Given the description of an element on the screen output the (x, y) to click on. 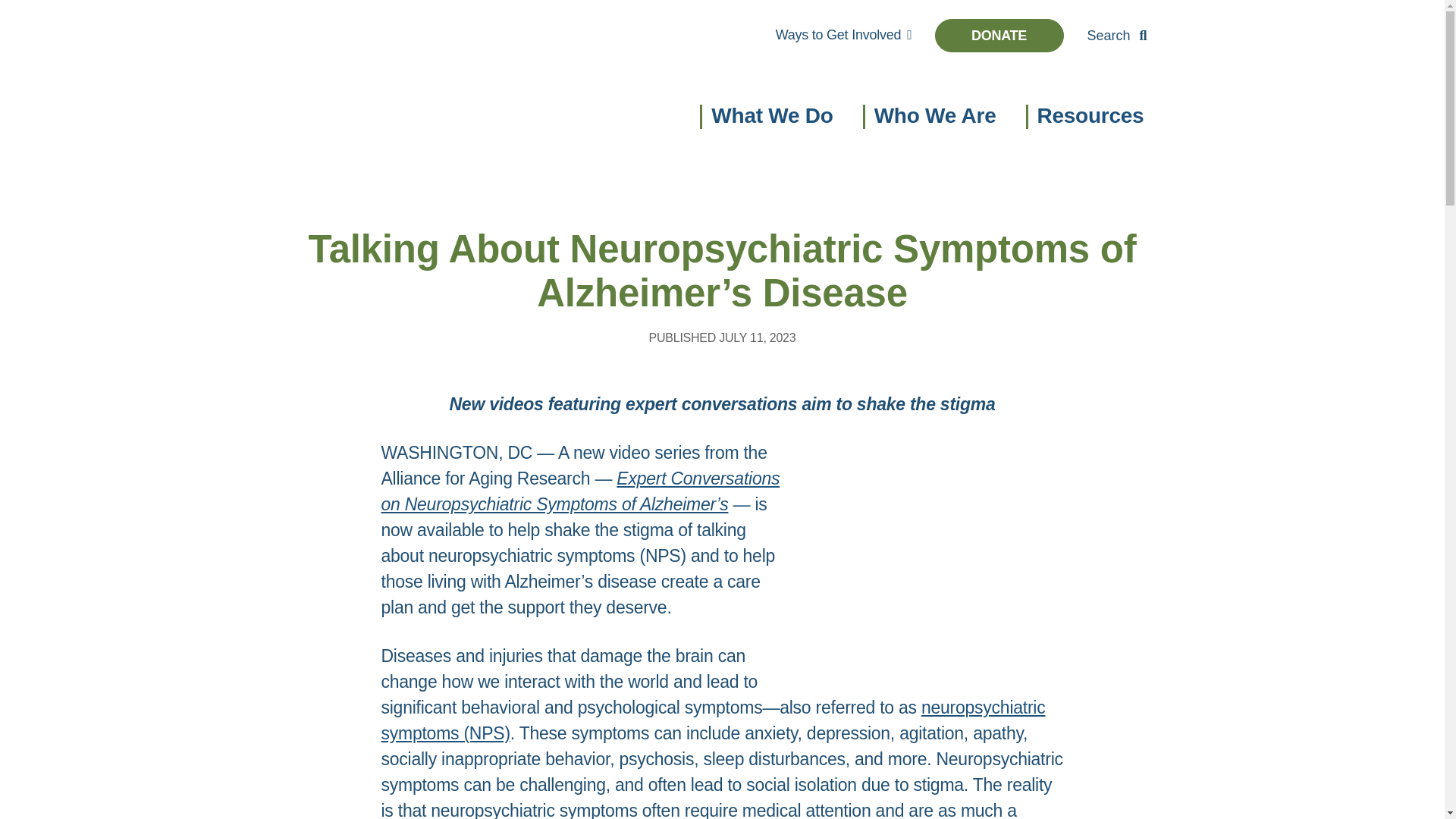
Who We Are (935, 118)
What We Do (772, 118)
Search (1116, 35)
Ways to Get Involved (843, 34)
DONATE (998, 35)
Resources (1093, 118)
